Given the description of an element on the screen output the (x, y) to click on. 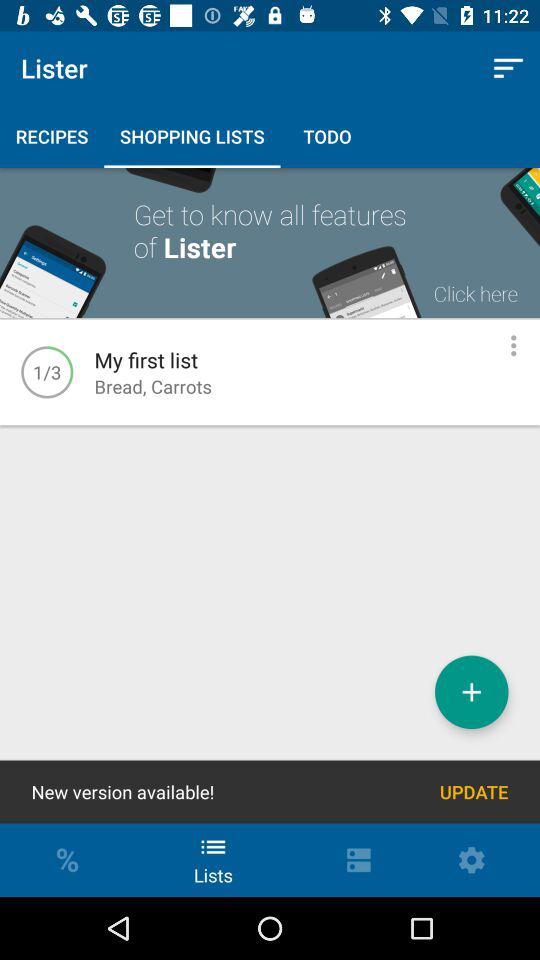
add shopping lists (471, 692)
